Given the description of an element on the screen output the (x, y) to click on. 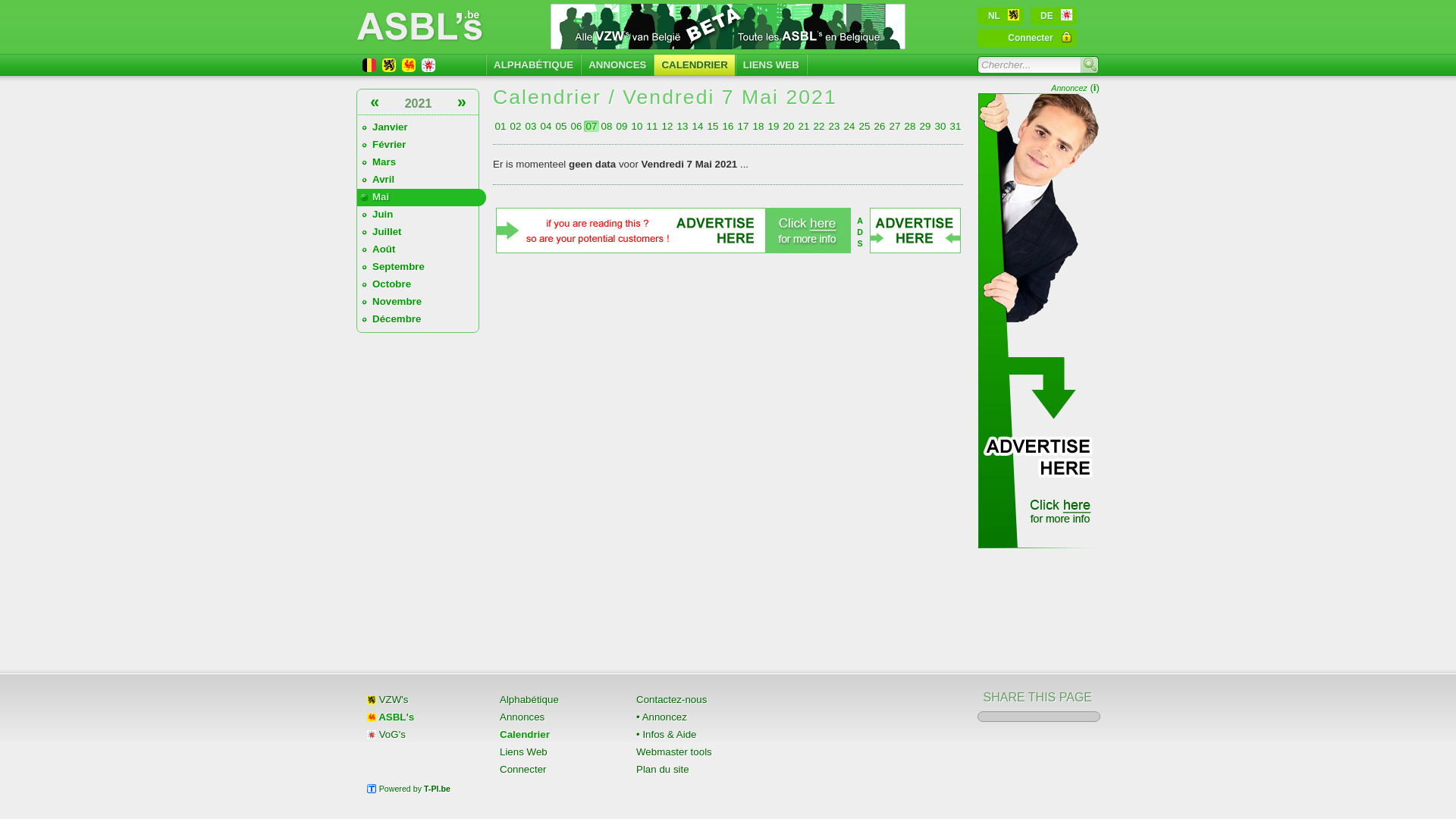
31 Element type: text (955, 125)
Connecter Element type: text (1026, 37)
Novembre Element type: text (421, 301)
Annoncez (i) Element type: text (1075, 87)
07 Element type: text (591, 125)
Septembre Element type: text (421, 267)
Liens Web Element type: text (552, 751)
15 Element type: text (712, 125)
04 Element type: text (545, 125)
Plan du site Element type: text (689, 767)
Janvier Element type: text (421, 127)
09 Element type: text (621, 125)
14 Element type: text (697, 125)
28 Element type: text (909, 125)
16 Element type: text (727, 125)
NL Element type: text (1000, 15)
12 Element type: text (666, 125)
22 Element type: text (818, 125)
30 Element type: text (939, 125)
08 Element type: text (606, 125)
29 Element type: text (924, 125)
Connecter Element type: text (552, 767)
Powered by T-PI.be Element type: text (420, 787)
ASBL's Element type: text (420, 716)
Calendrier Element type: text (552, 732)
03 Element type: text (530, 125)
Juin Element type: text (421, 214)
24 Element type: text (848, 125)
DE Element type: text (1053, 15)
02 Element type: text (515, 125)
06 Element type: text (575, 125)
ANNONCES Element type: text (616, 64)
11 Element type: text (651, 125)
01 Element type: text (500, 125)
27 Element type: text (894, 125)
LIENS WEB Element type: text (771, 64)
VZW's Element type: text (420, 698)
Avril Element type: text (421, 179)
Juillet Element type: text (421, 232)
05 Element type: text (560, 125)
10 Element type: text (636, 125)
Contactez-nous Element type: text (689, 698)
20 Element type: text (788, 125)
13 Element type: text (682, 125)
25 Element type: text (864, 125)
23 Element type: text (833, 125)
18 Element type: text (757, 125)
Webmaster tools Element type: text (689, 751)
17 Element type: text (742, 125)
CALENDRIER Element type: text (694, 64)
Mai Element type: text (421, 197)
VoG's Element type: text (420, 732)
Octobre Element type: text (421, 284)
Annonces Element type: text (552, 716)
19 Element type: text (773, 125)
26 Element type: text (879, 125)
A
D
S Element type: text (859, 231)
21 Element type: text (803, 125)
Mars Element type: text (421, 162)
